Given the description of an element on the screen output the (x, y) to click on. 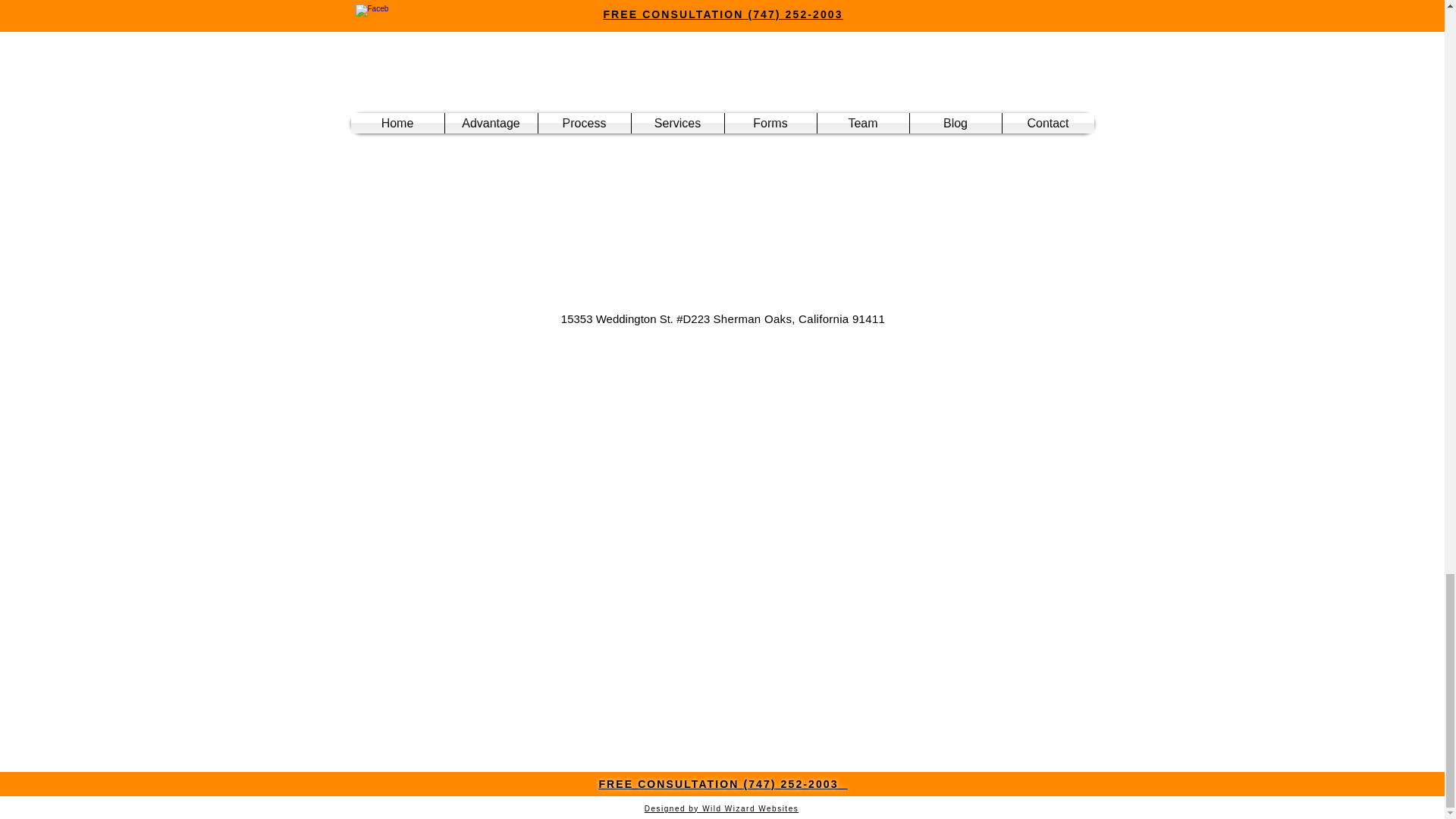
Designed by Wild Wizard Websites (721, 808)
